Given the description of an element on the screen output the (x, y) to click on. 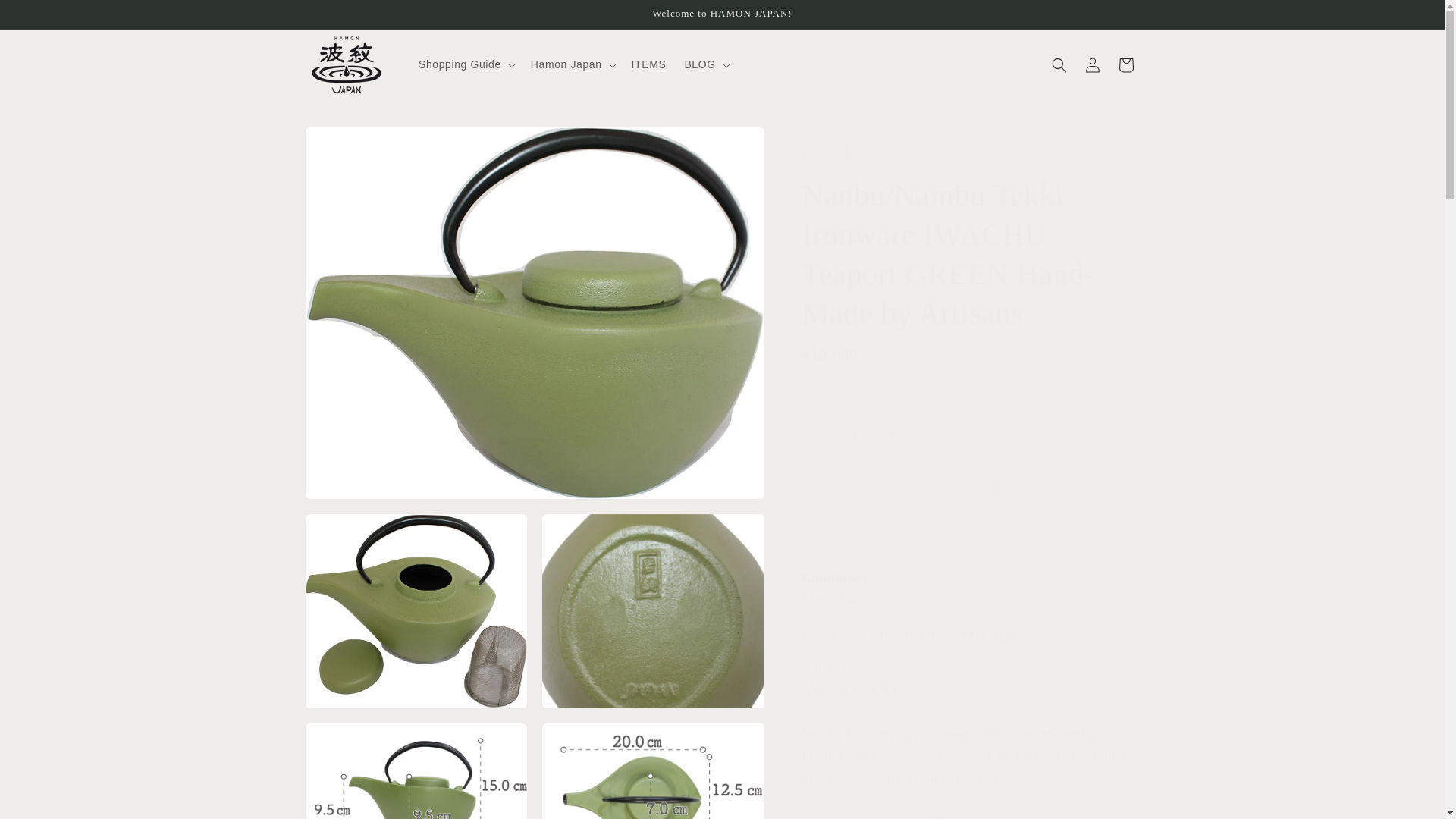
Open media 4 in modal (415, 771)
Log in (1091, 64)
red hikifune (1004, 634)
Open media 2 in modal (415, 611)
Cart (1124, 64)
Skip to content (45, 17)
Open media 5 in modal (652, 771)
1 (856, 434)
Skip to product information (350, 144)
